Given the description of an element on the screen output the (x, y) to click on. 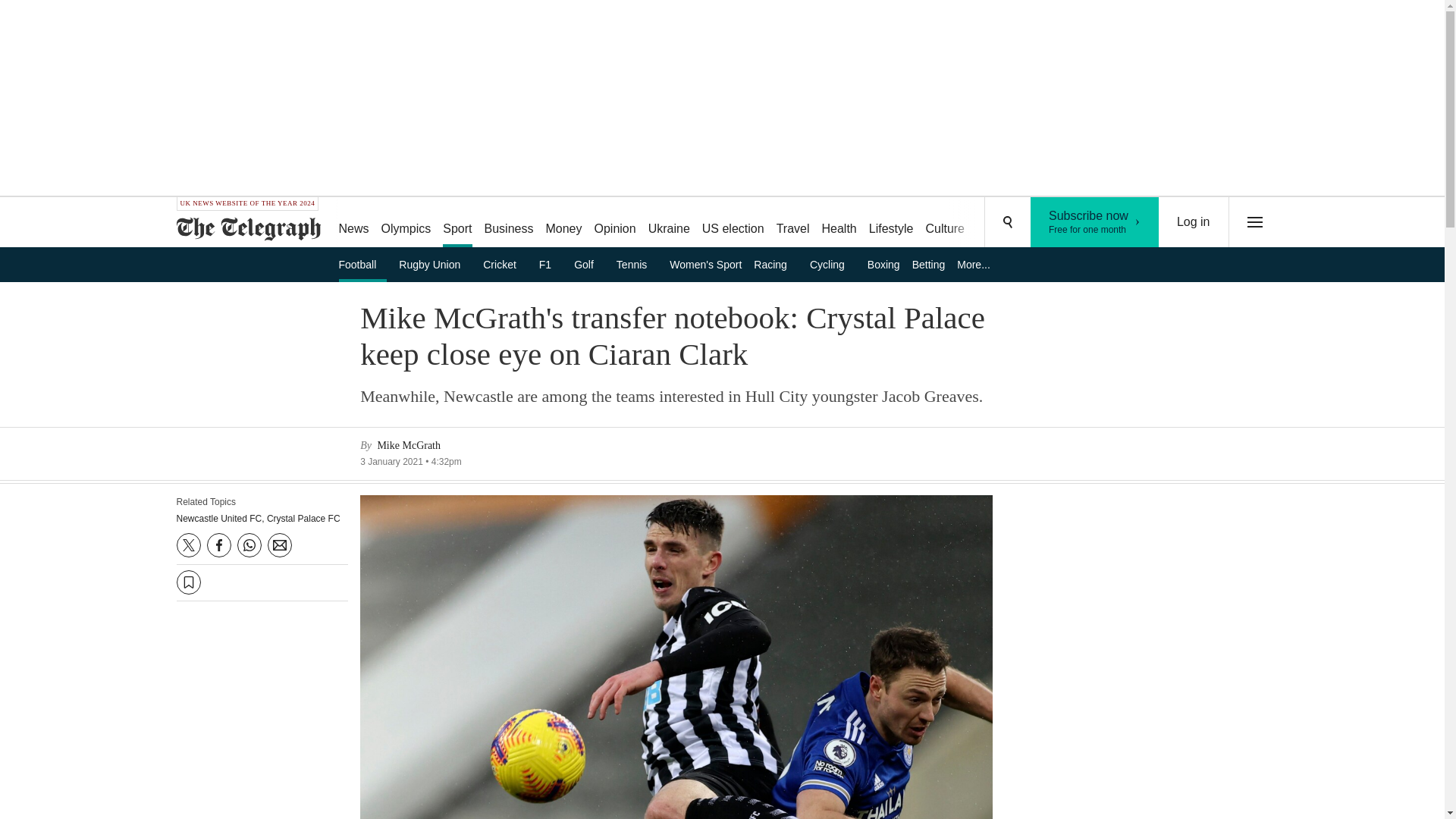
Golf (588, 264)
US election (732, 223)
Football (362, 264)
Olympics (406, 223)
Puzzles (998, 223)
Log in (1193, 222)
Money (563, 223)
Podcasts (1056, 223)
Rugby Union (435, 264)
Business (509, 223)
Opinion (615, 223)
Culture (944, 223)
Ukraine (668, 223)
F1 (549, 264)
Cricket (504, 264)
